Given the description of an element on the screen output the (x, y) to click on. 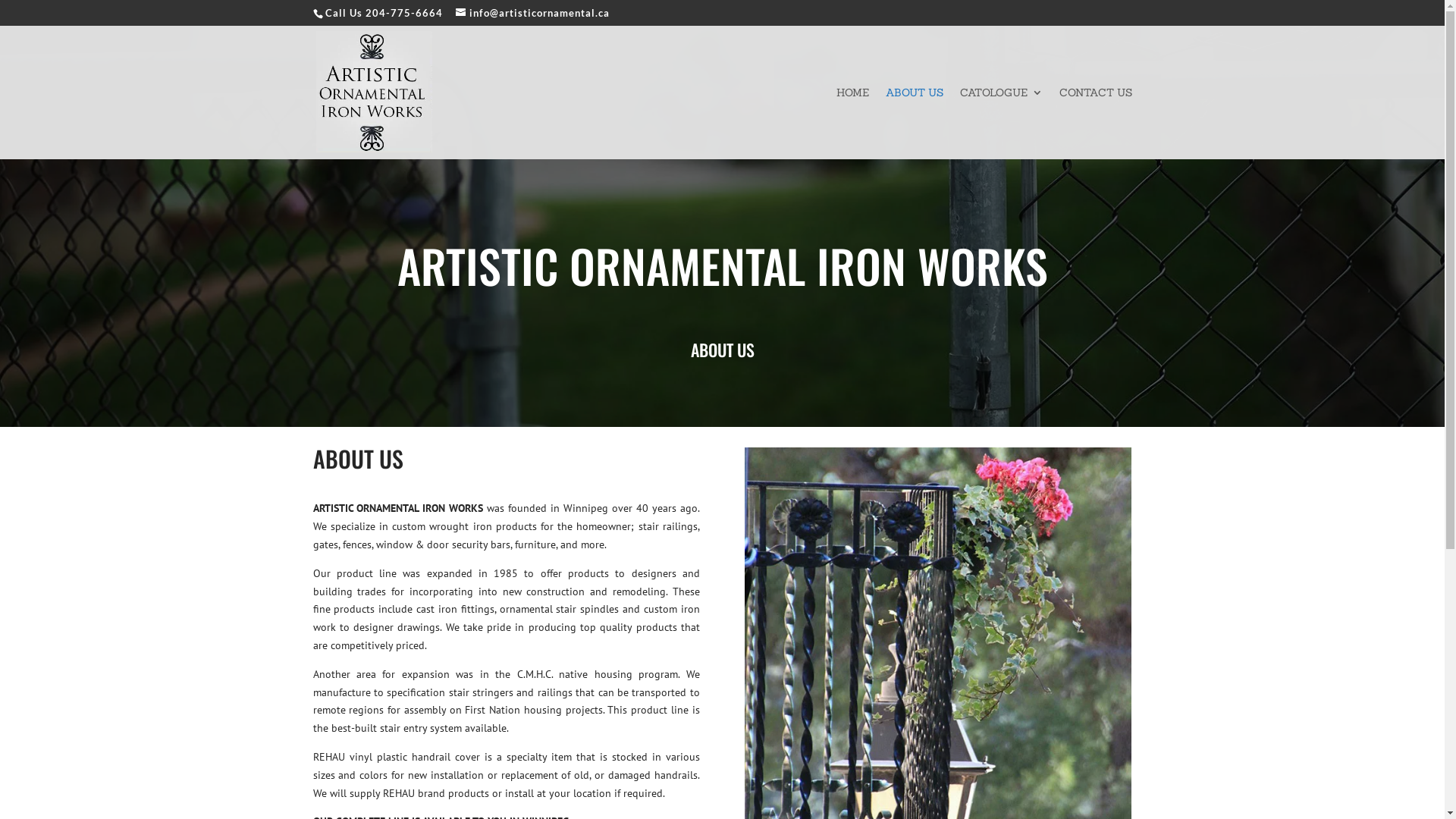
ABOUT US Element type: text (914, 122)
CATOLOGUE Element type: text (1001, 122)
HOME Element type: text (851, 122)
Call Us 204-775-6664 Element type: text (383, 12)
info@artisticornamental.ca Element type: text (531, 12)
CONTACT US Element type: text (1094, 122)
